Given the description of an element on the screen output the (x, y) to click on. 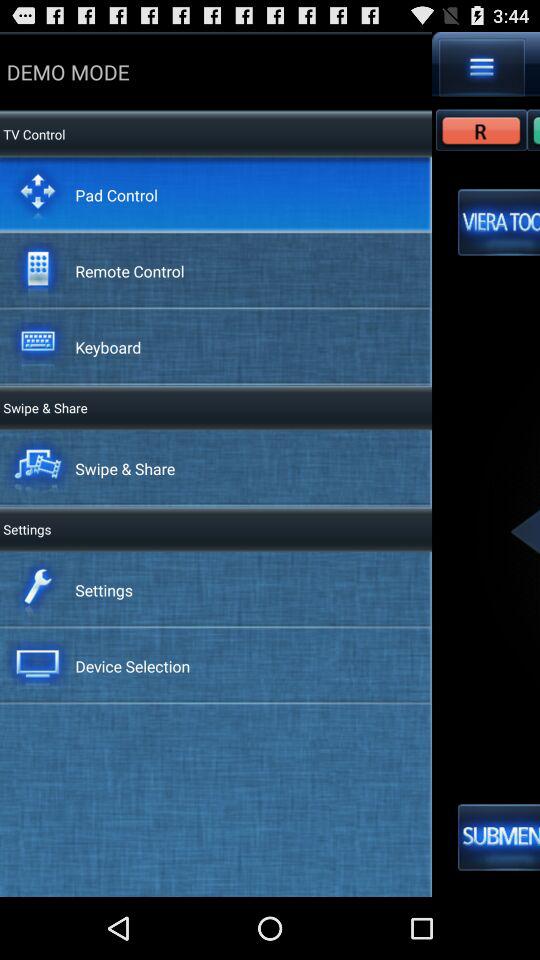
turn on app next to demo mode icon (481, 67)
